Given the description of an element on the screen output the (x, y) to click on. 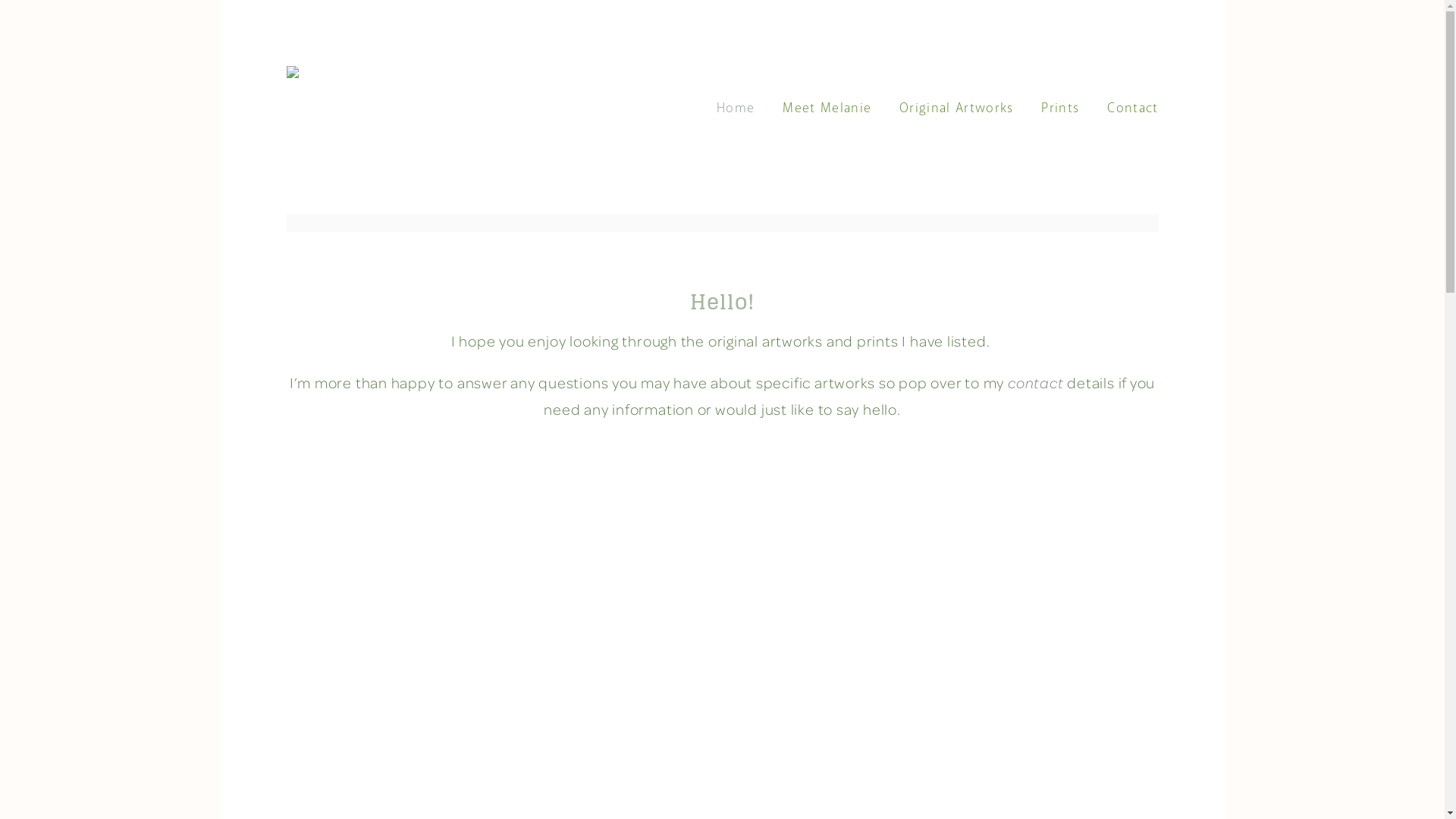
contact Element type: text (1035, 382)
Original Artworks Element type: text (956, 109)
Home Element type: text (735, 109)
Contact Element type: text (1132, 109)
Prints Element type: text (1060, 109)
Join my mailing list Element type: text (818, 578)
Meet Melanie Element type: text (826, 109)
